Given the description of an element on the screen output the (x, y) to click on. 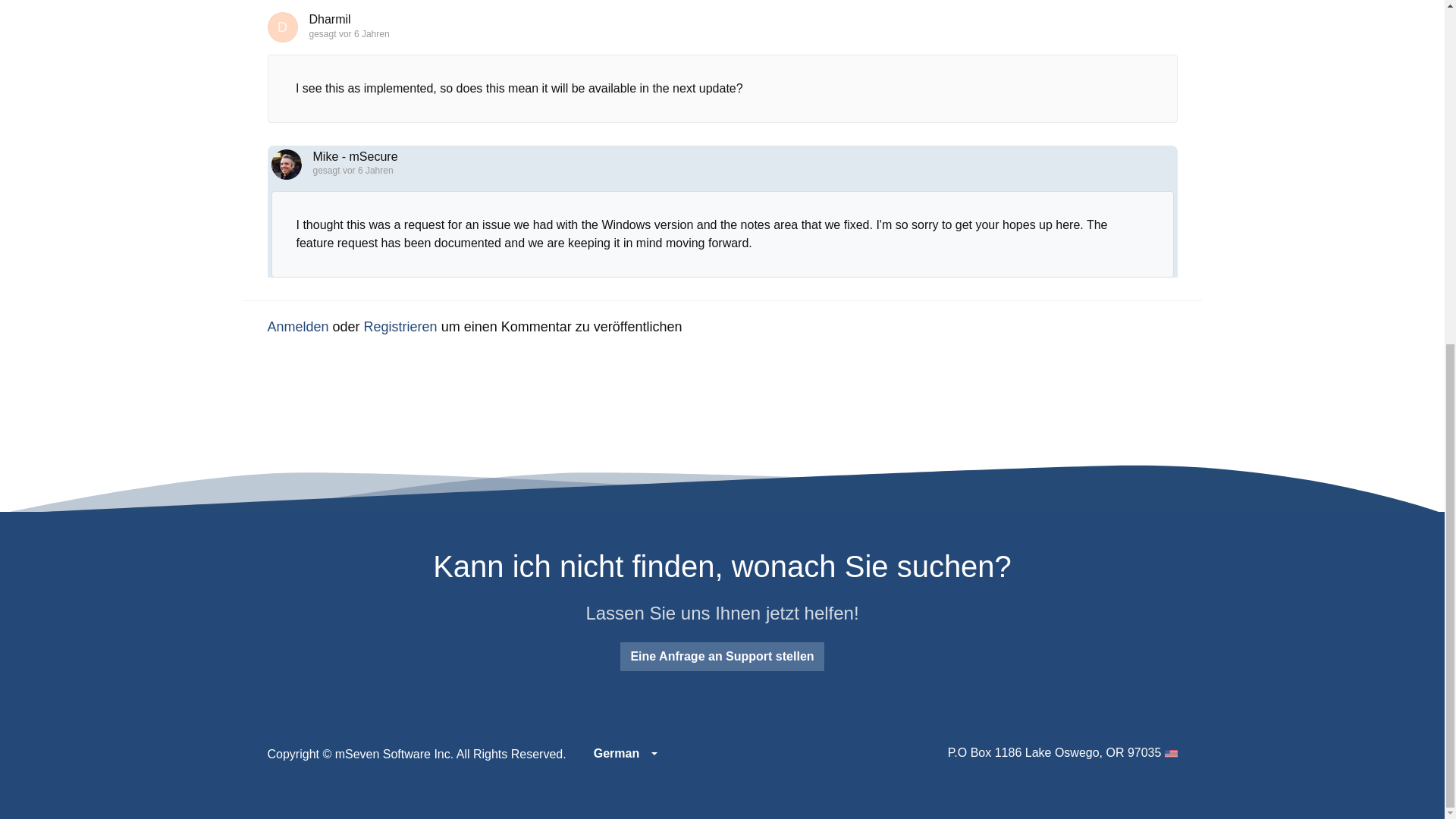
Mi, Mai 9, 2018 um  4:49 VORMITTAGS (364, 33)
Eine Anfrage an Support stellen (722, 656)
Registrieren (401, 326)
Mi, Mai 9, 2018 um  9:15 VORMITTAGS (367, 170)
Anmelden (297, 326)
